Given the description of an element on the screen output the (x, y) to click on. 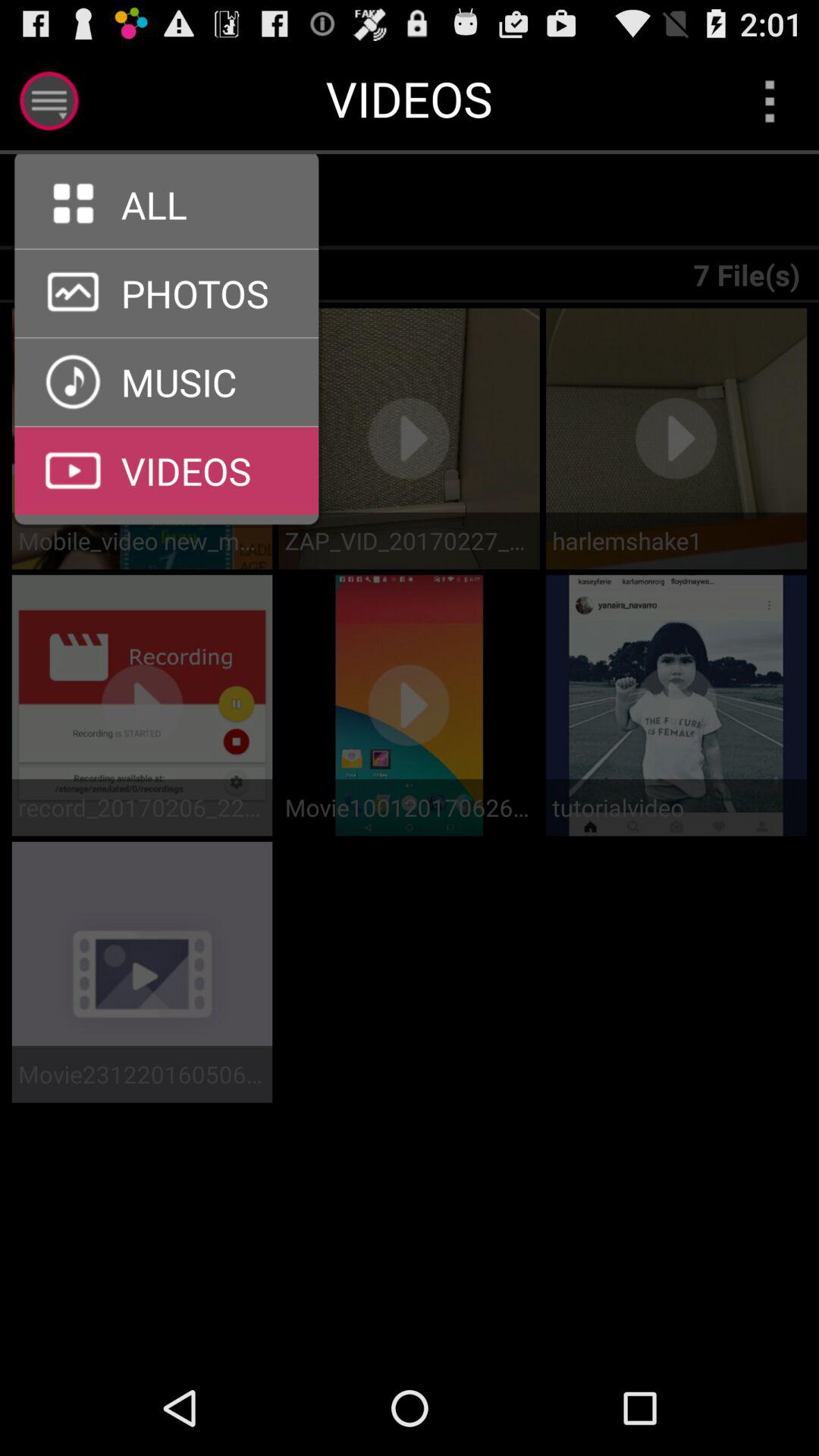
jump to the movie10012017062624 app (408, 807)
